Given the description of an element on the screen output the (x, y) to click on. 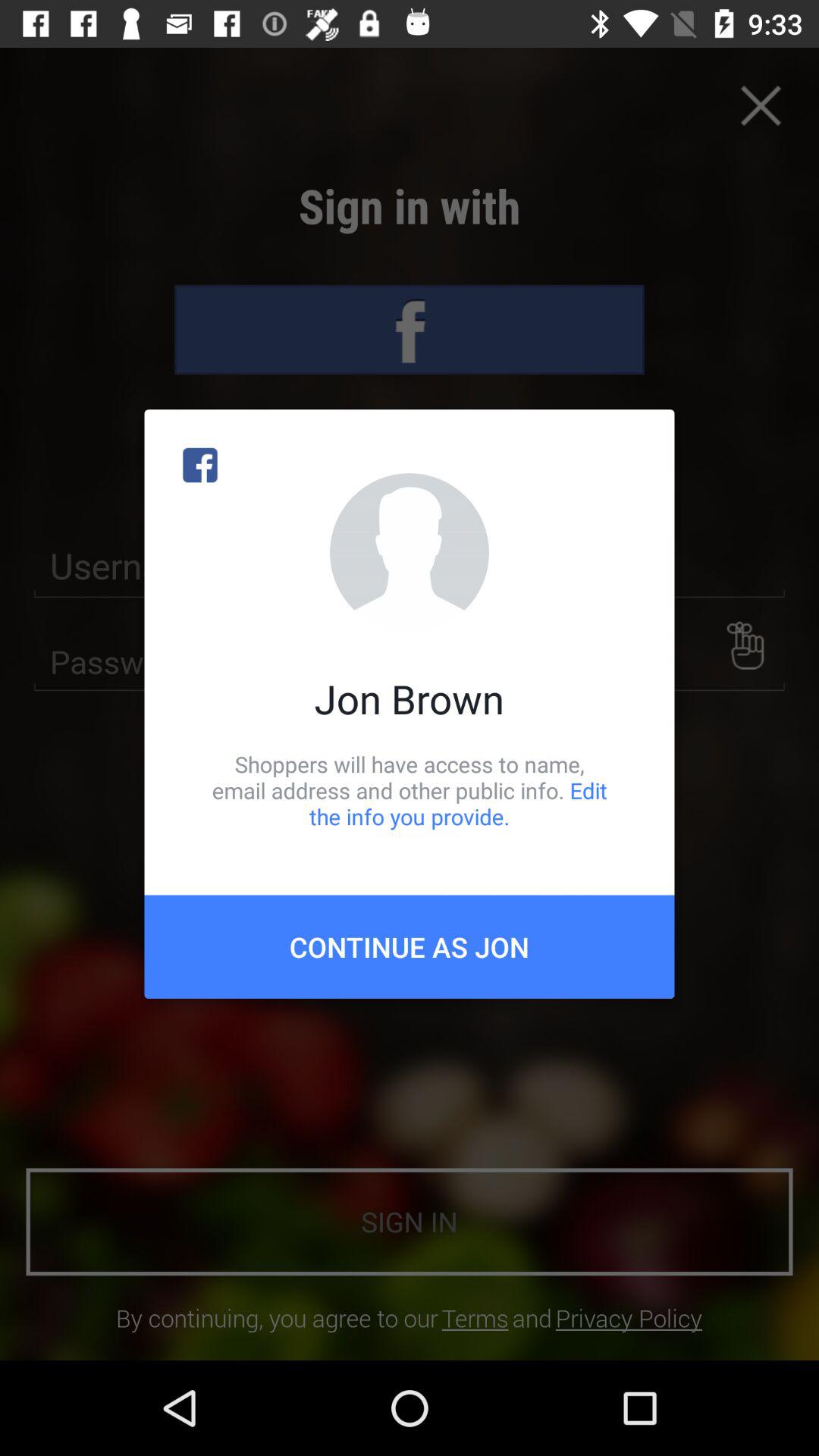
choose item below the jon brown (409, 790)
